Given the description of an element on the screen output the (x, y) to click on. 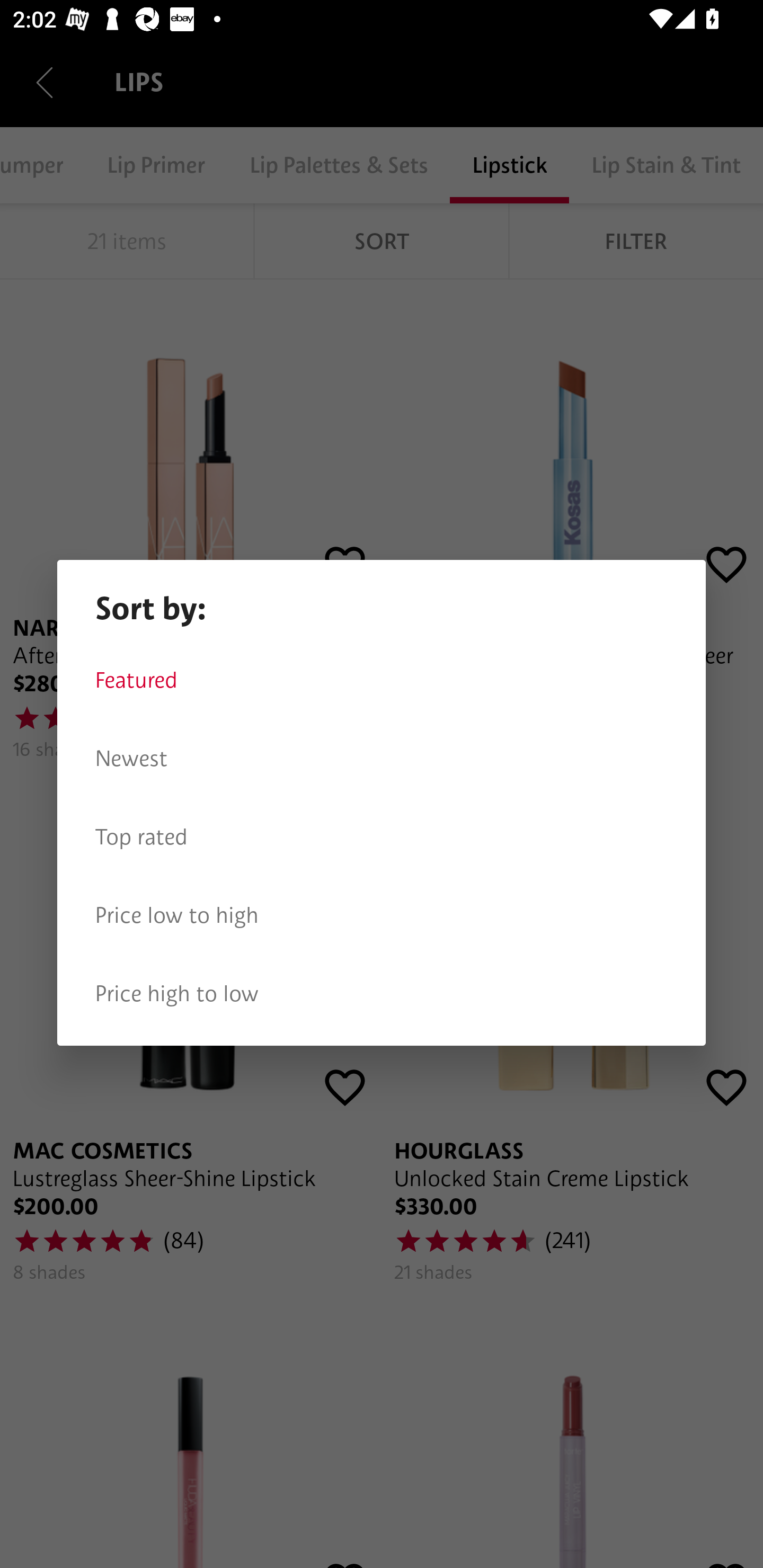
Featured (381, 680)
Newest (381, 758)
Top rated (381, 837)
Price low to high (381, 915)
Price high to low (381, 993)
